Given the description of an element on the screen output the (x, y) to click on. 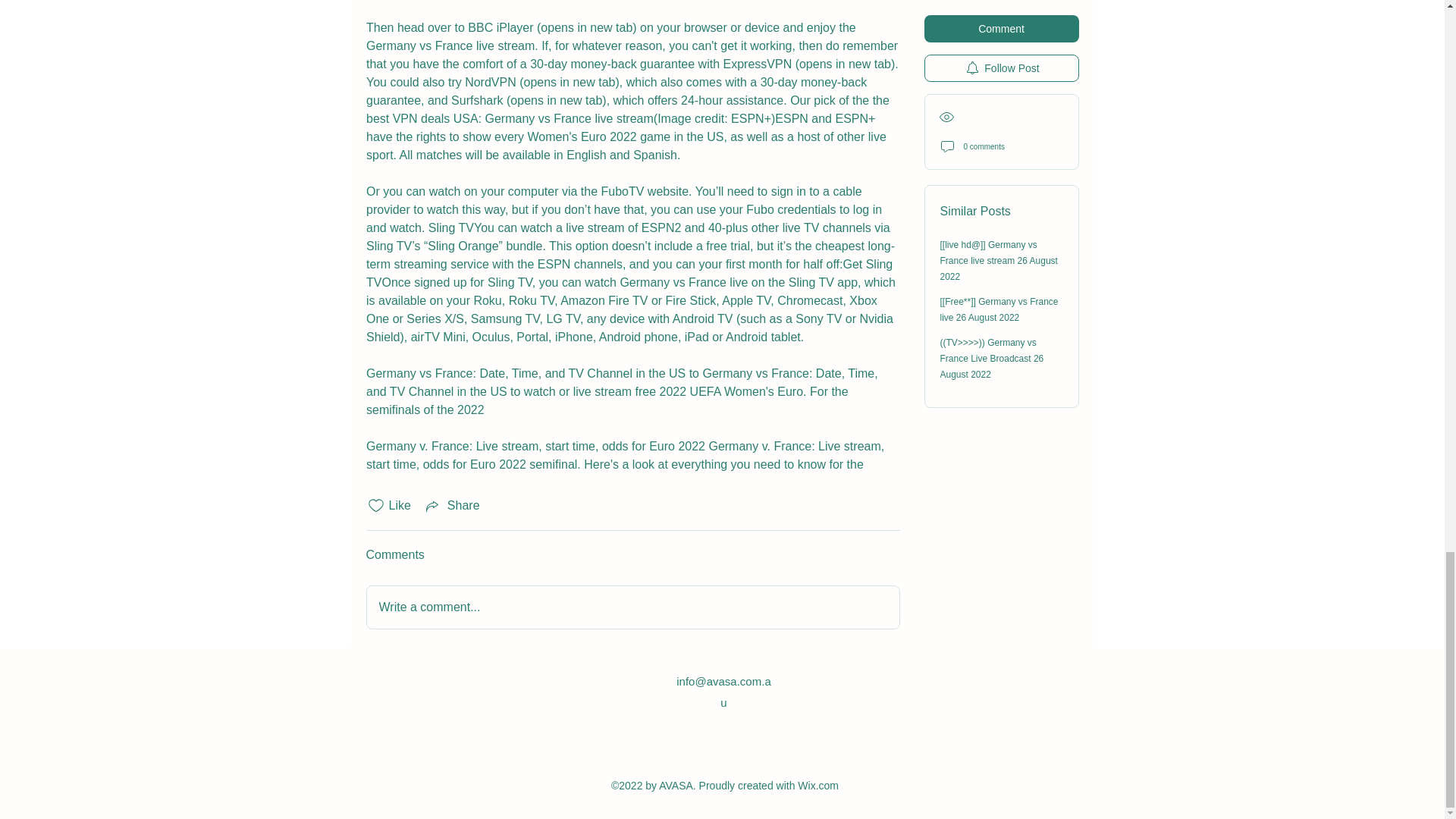
Share (451, 505)
Write a comment... (632, 607)
